Given the description of an element on the screen output the (x, y) to click on. 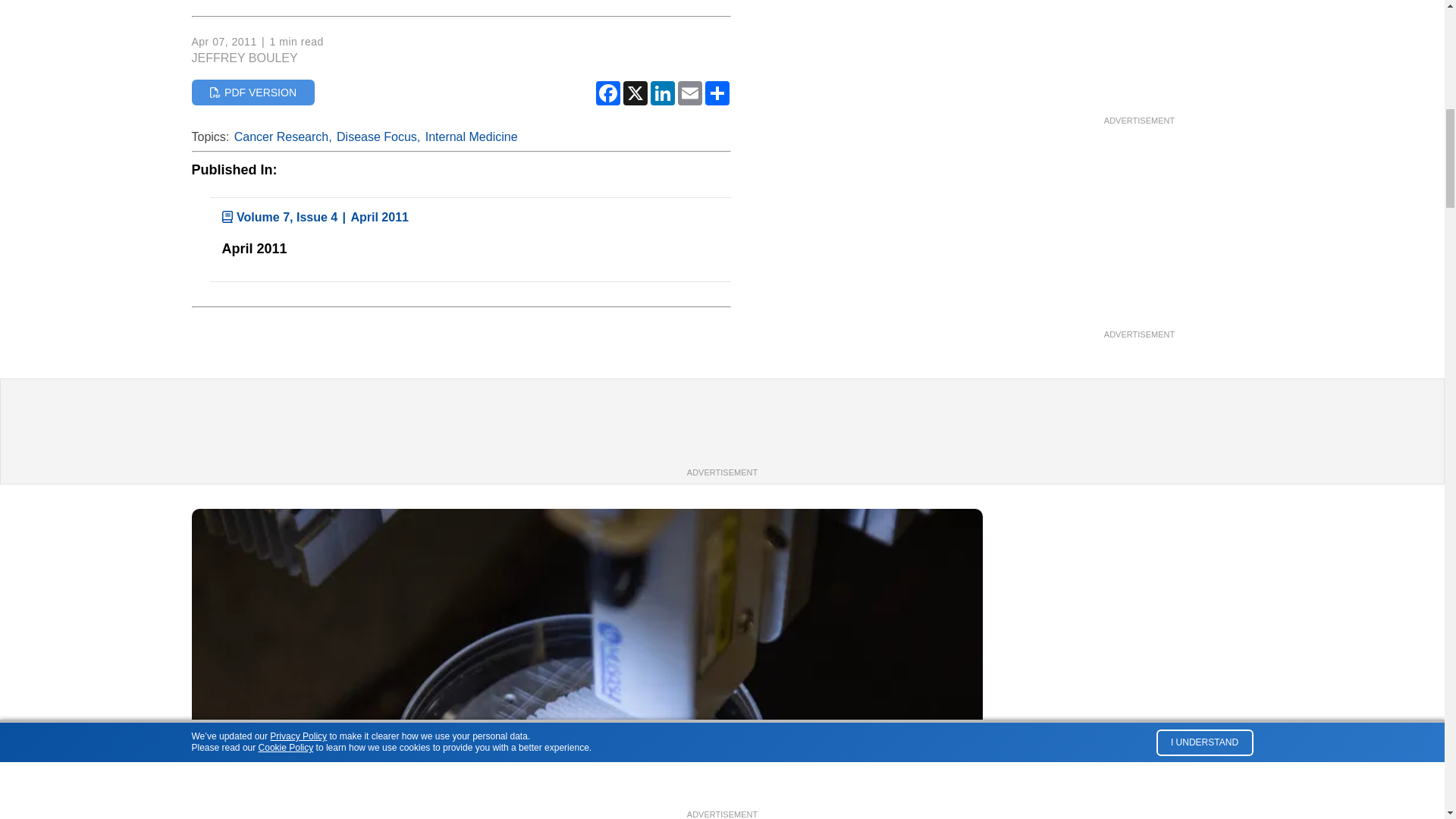
3rd party ad content (721, 431)
3rd party ad content (1138, 231)
3rd party ad content (1138, 49)
